Given the description of an element on the screen output the (x, y) to click on. 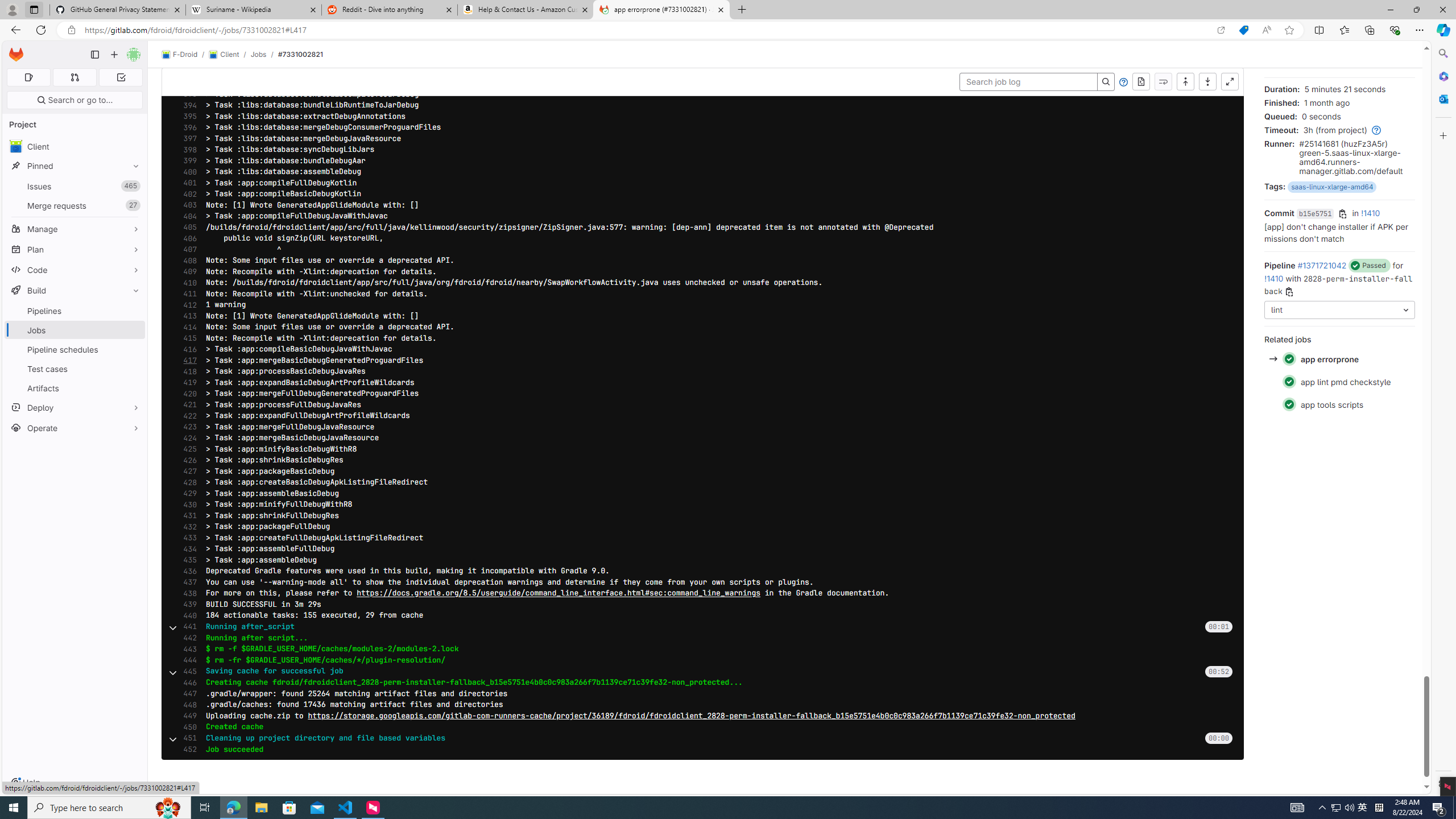
434 (186, 548)
425 (186, 449)
446 (186, 682)
Skip to main content (13, 49)
443 (186, 648)
Deploy (74, 407)
450 (186, 727)
445 Saving cache for successful job 00:52 (702, 671)
Homepage (16, 54)
449 (186, 715)
Pinned (74, 165)
lint (1339, 309)
